Given the description of an element on the screen output the (x, y) to click on. 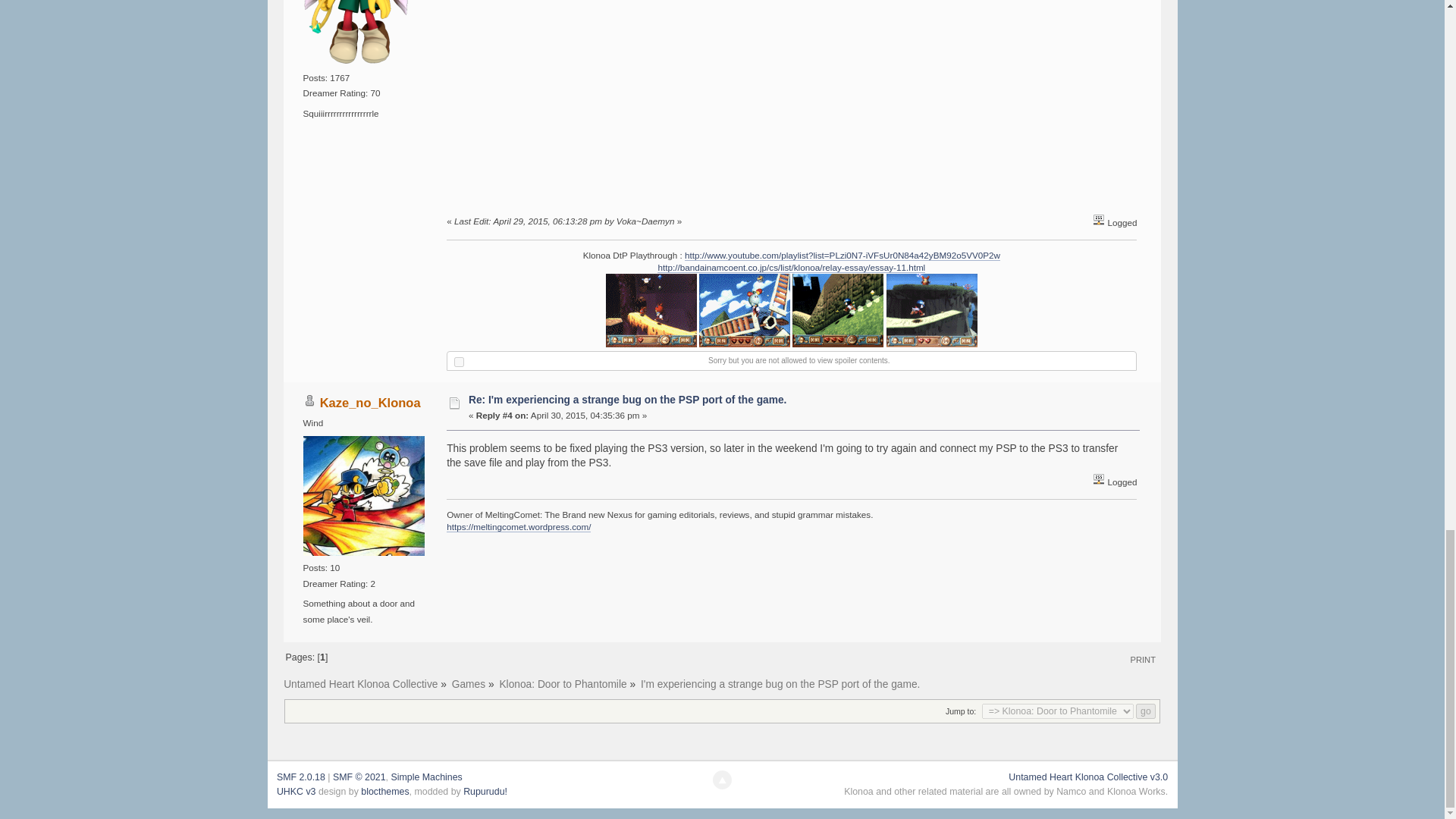
License (359, 777)
Simple Machines (425, 777)
go (1145, 711)
Simple Machines Forum (300, 777)
